Given the description of an element on the screen output the (x, y) to click on. 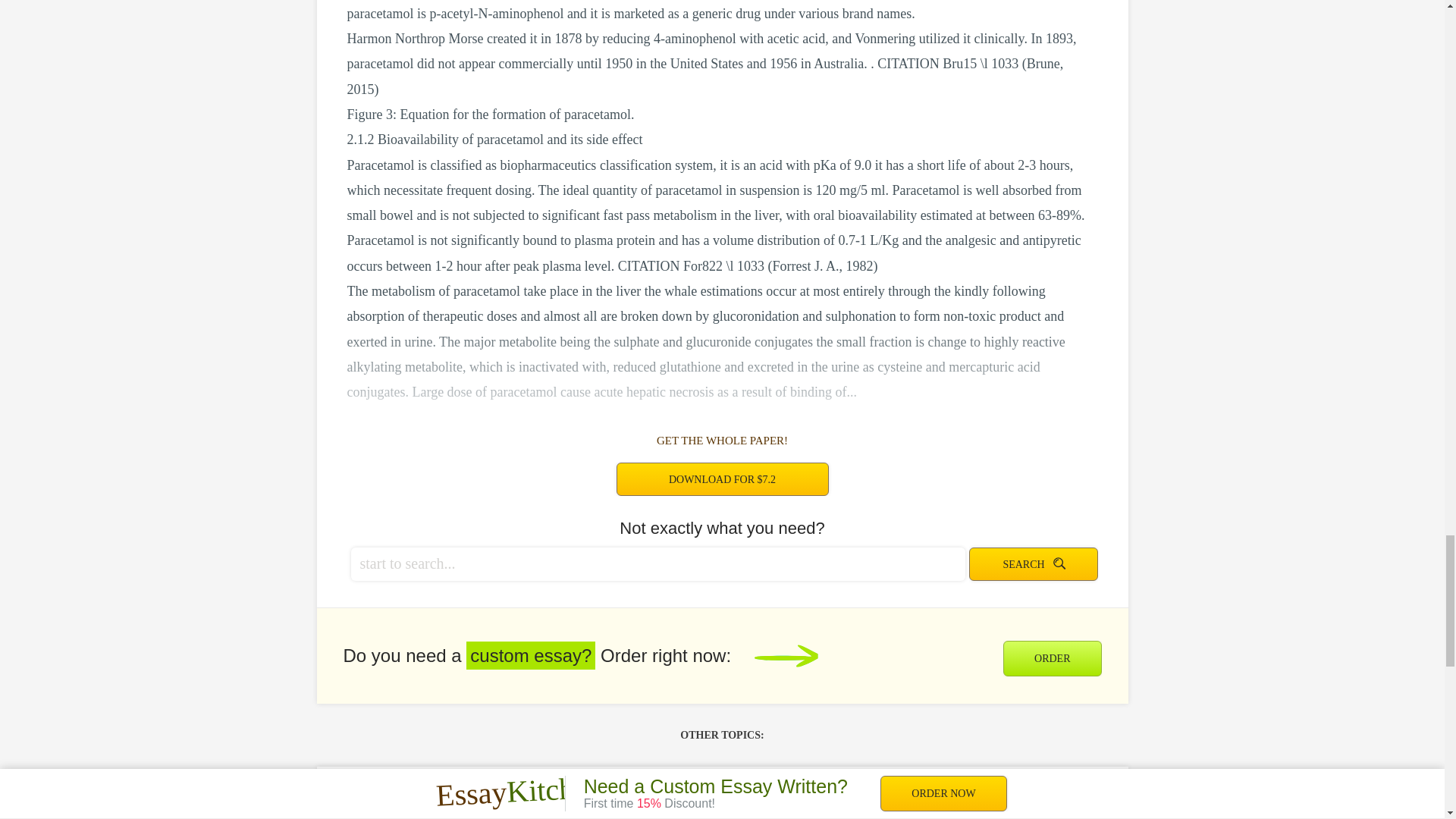
Search (1033, 563)
Search (1033, 563)
MS Word (1084, 804)
